Given the description of an element on the screen output the (x, y) to click on. 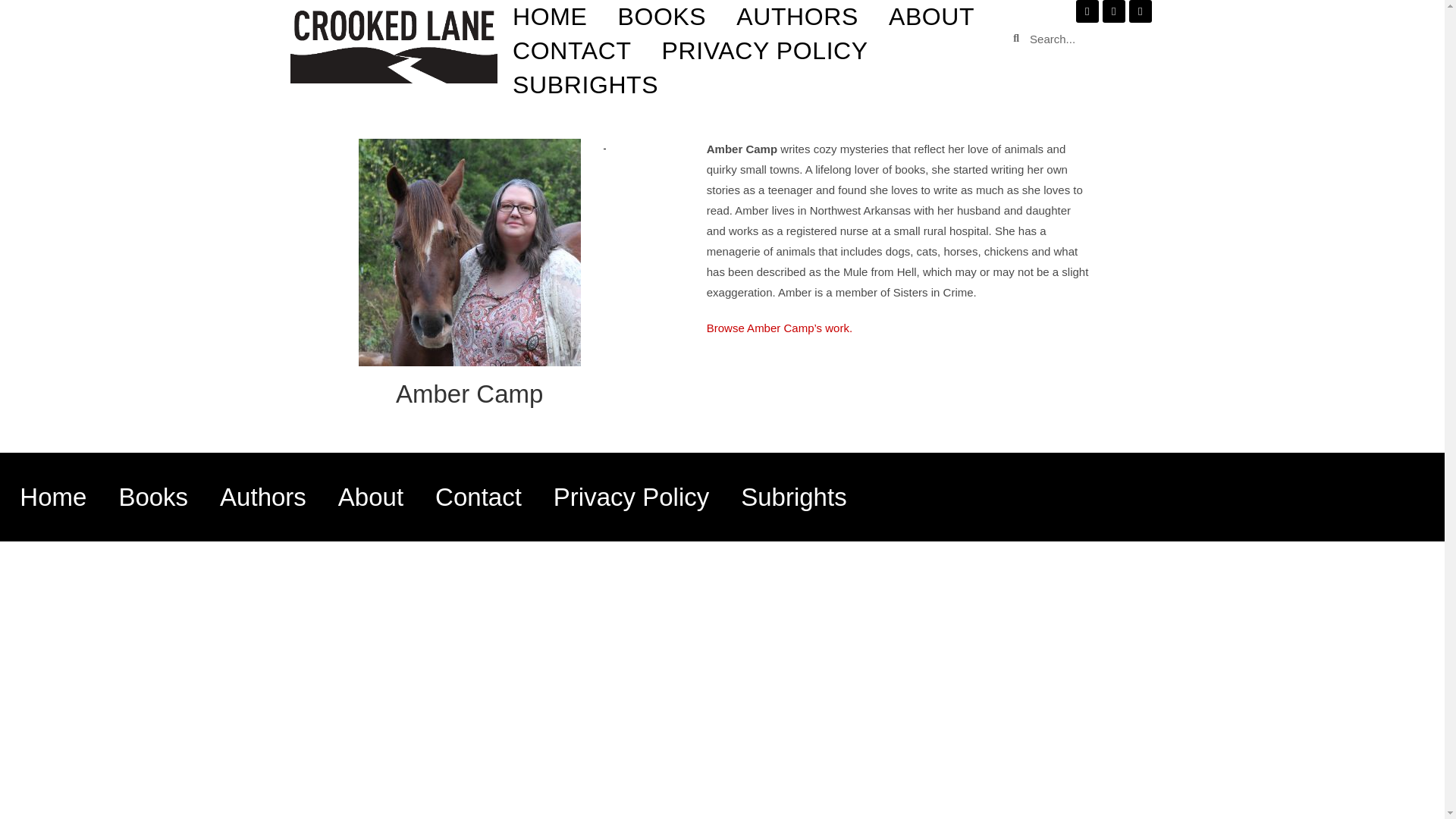
BOOKS (661, 17)
SUBRIGHTS (584, 84)
Authors (262, 497)
Home (52, 497)
About (370, 497)
Privacy Policy (630, 497)
HOME (549, 17)
Books (152, 497)
ABOUT (931, 17)
CONTACT (571, 50)
